Given the description of an element on the screen output the (x, y) to click on. 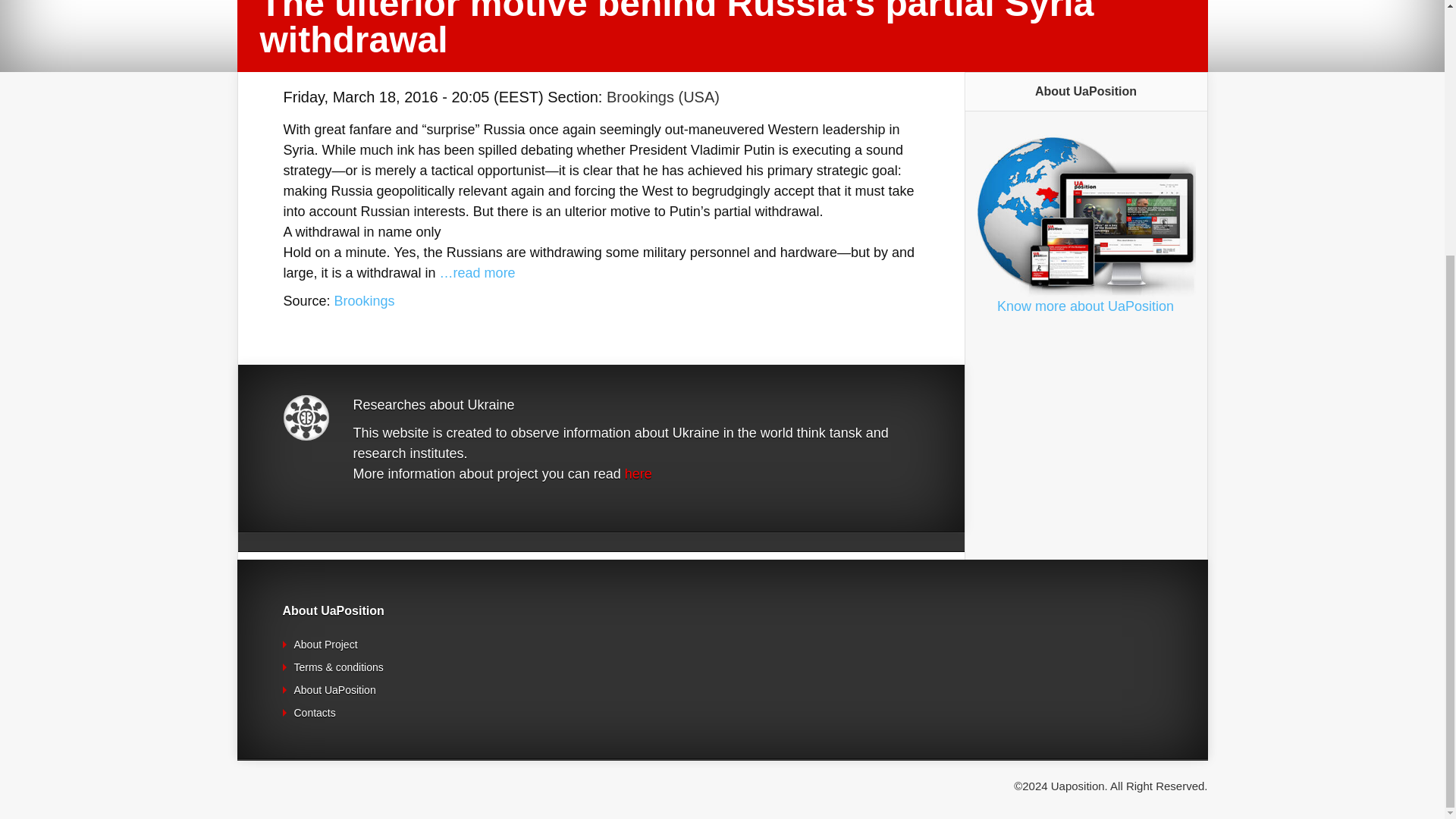
here (638, 473)
Brookings (364, 300)
About Project (326, 644)
Know more about UaPosition (1085, 305)
Contacts (315, 712)
About UaPosition (334, 689)
Know more about UaPosition project (1085, 305)
